Given the description of an element on the screen output the (x, y) to click on. 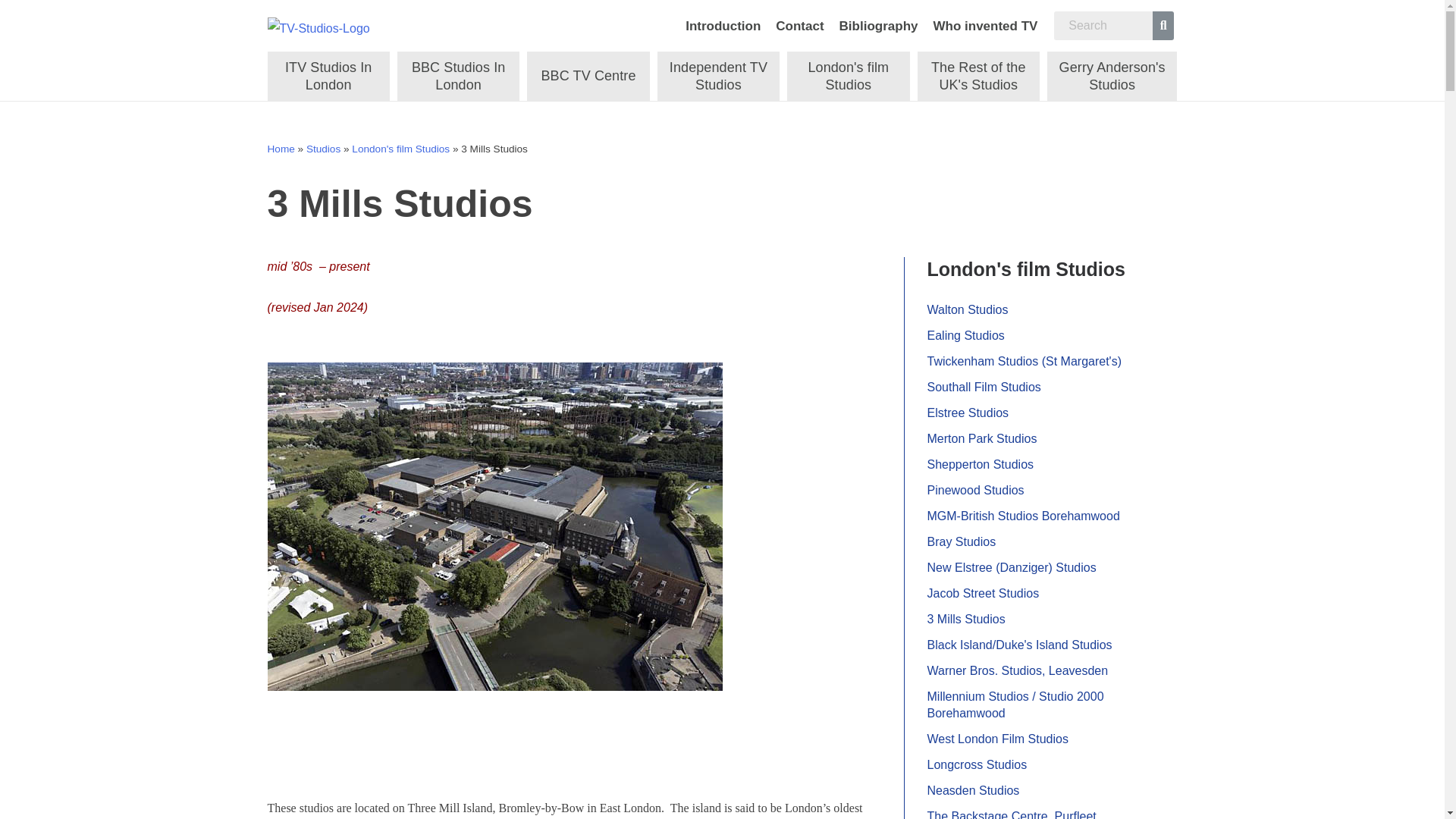
Independent TV Studios (718, 75)
Walton Studios (966, 310)
Southall Film Studios (983, 387)
Contact (800, 25)
Studios (322, 148)
Home (280, 148)
Gerry Anderson's Studios (1111, 75)
London's film Studios (400, 148)
Ealing Studios (965, 335)
Bibliography (879, 25)
